Given the description of an element on the screen output the (x, y) to click on. 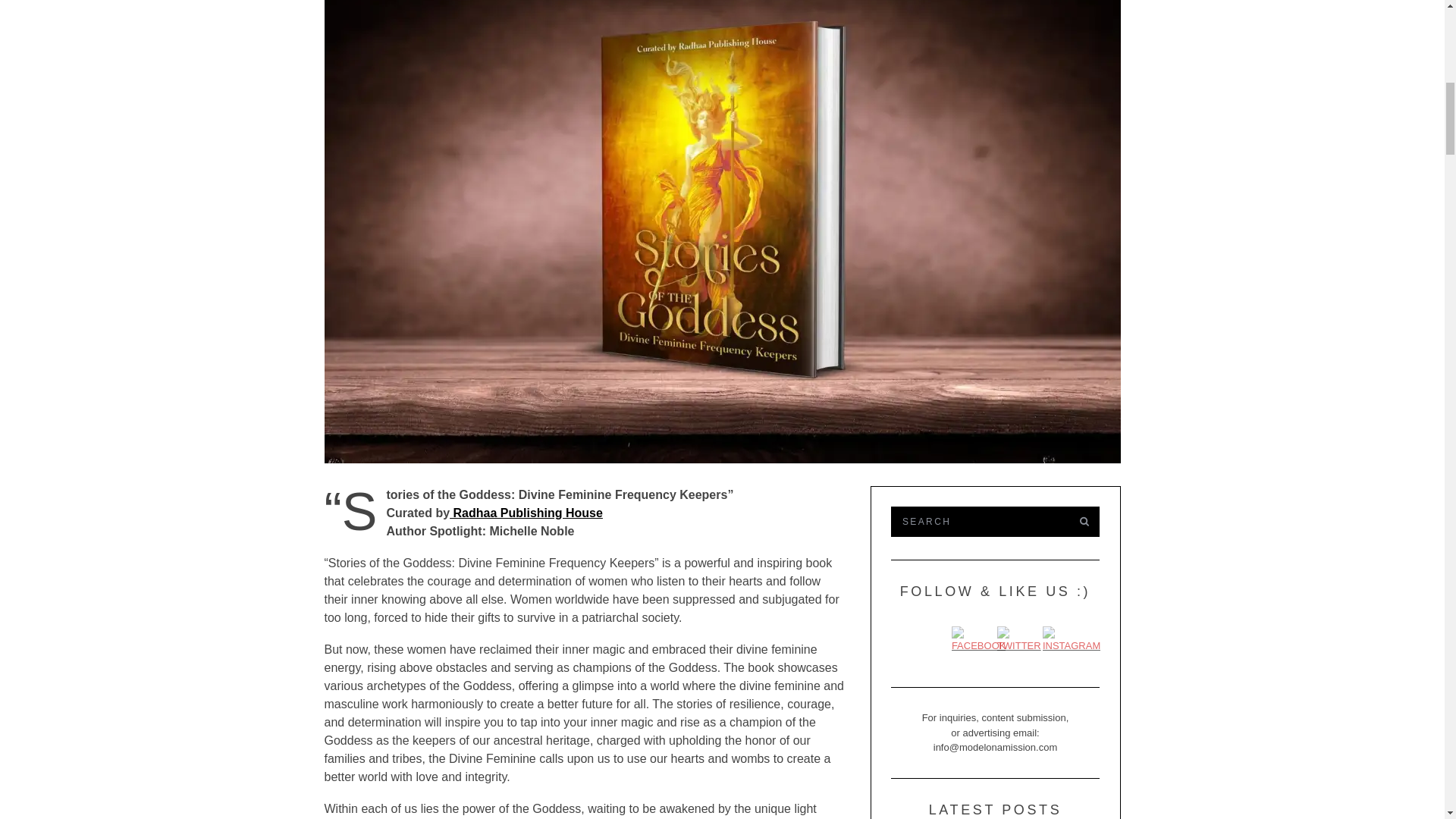
INSTAGRAM (1071, 639)
FACEBOOK (979, 639)
Search (976, 521)
TWITTER (1019, 639)
